Given the description of an element on the screen output the (x, y) to click on. 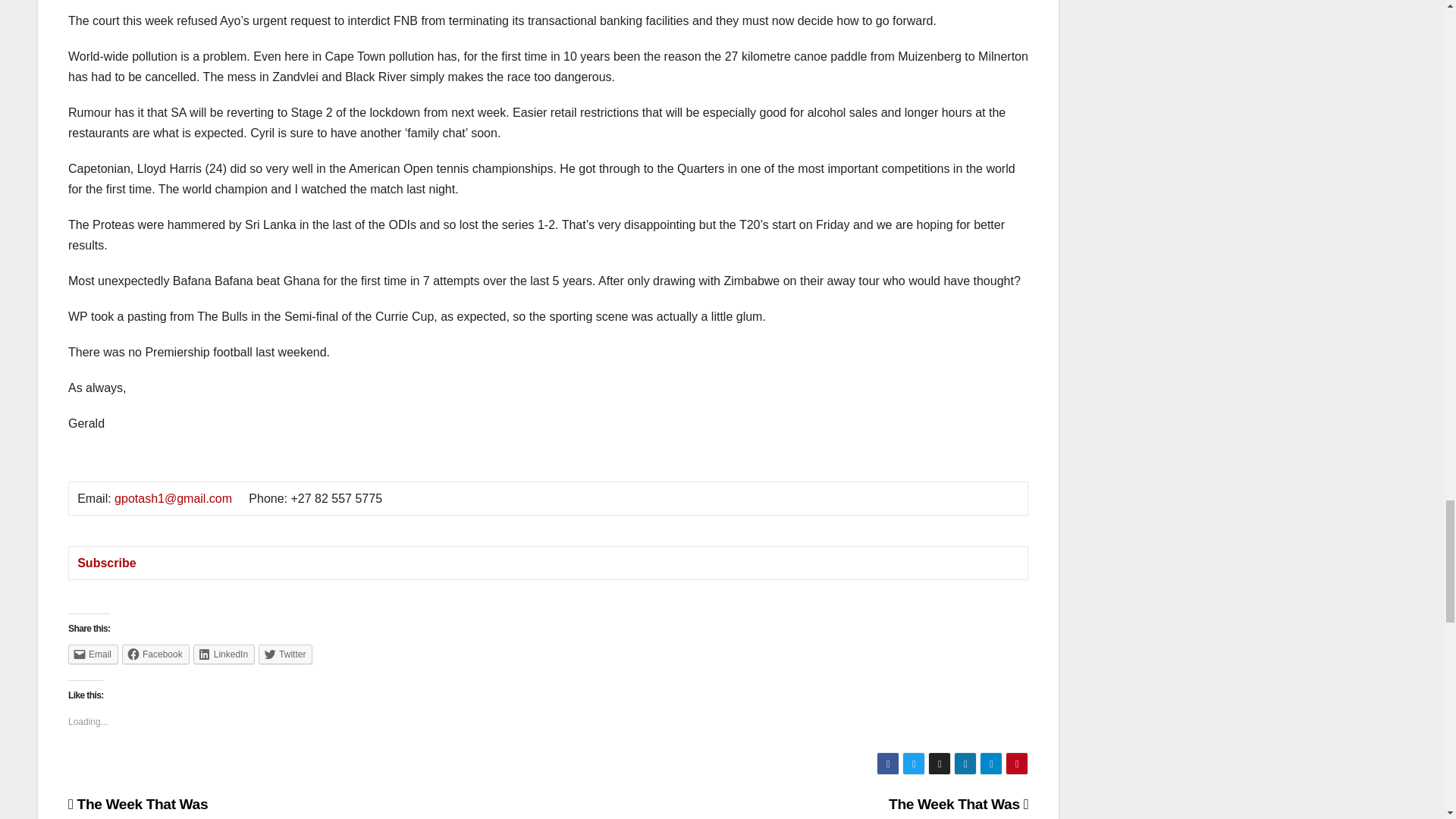
Twitter (286, 654)
The Week That Was (138, 804)
Click to email this to a friend (92, 654)
Facebook (155, 654)
Click to share on Twitter (286, 654)
Click to share on LinkedIn (223, 654)
Click to share on Facebook (155, 654)
LinkedIn (223, 654)
Subscribe (106, 562)
Email (92, 654)
